Given the description of an element on the screen output the (x, y) to click on. 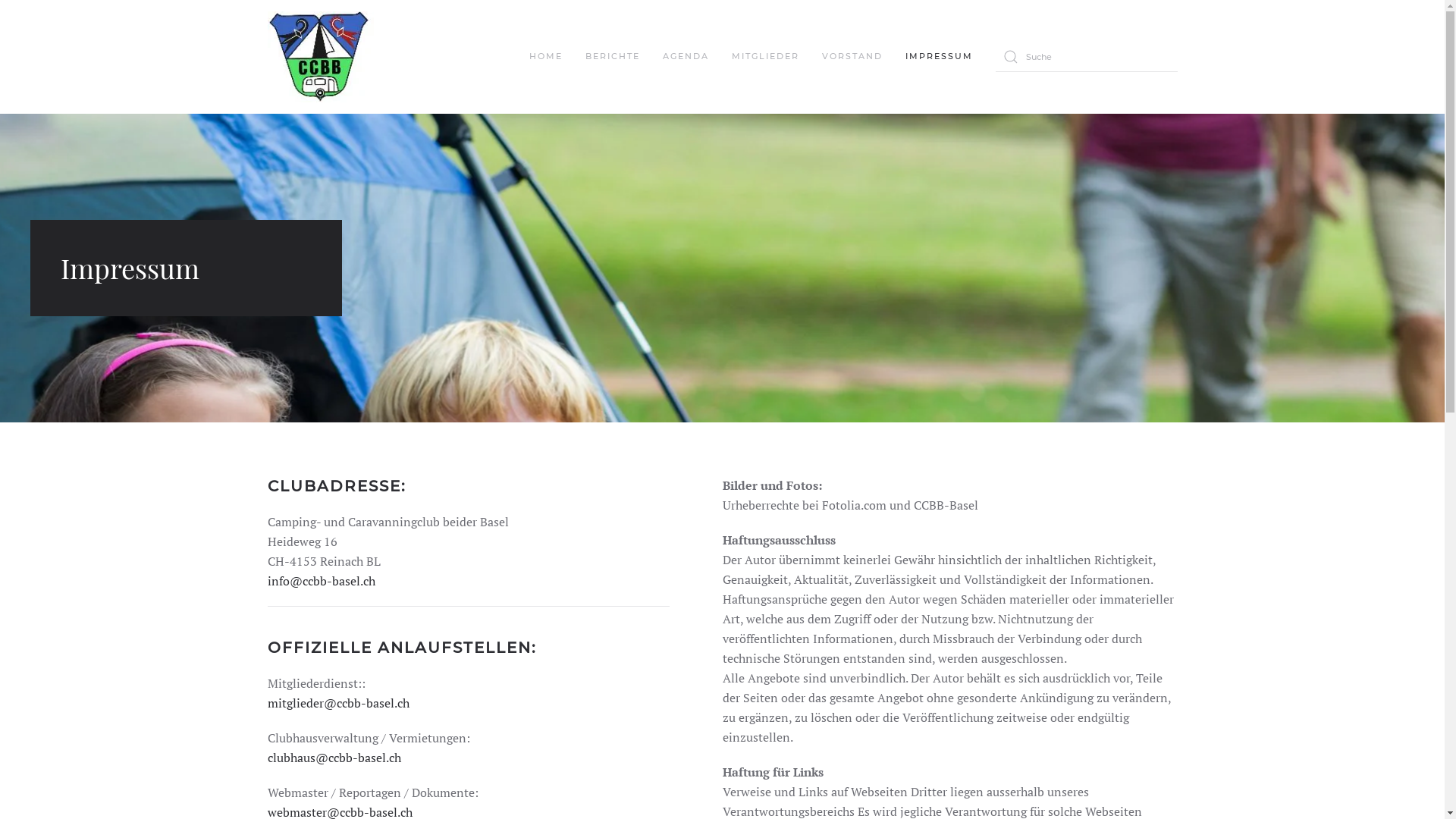
mitglieder@ccbb-basel.ch Element type: text (337, 702)
BERICHTE Element type: text (612, 56)
IMPRESSUM Element type: text (938, 56)
AGENDA Element type: text (685, 56)
HOME Element type: text (545, 56)
MITGLIEDER Element type: text (764, 56)
info@ccbb-basel.ch Element type: text (320, 580)
VORSTAND Element type: text (852, 56)
clubhaus@ccbb-basel.ch Element type: text (333, 757)
